Given the description of an element on the screen output the (x, y) to click on. 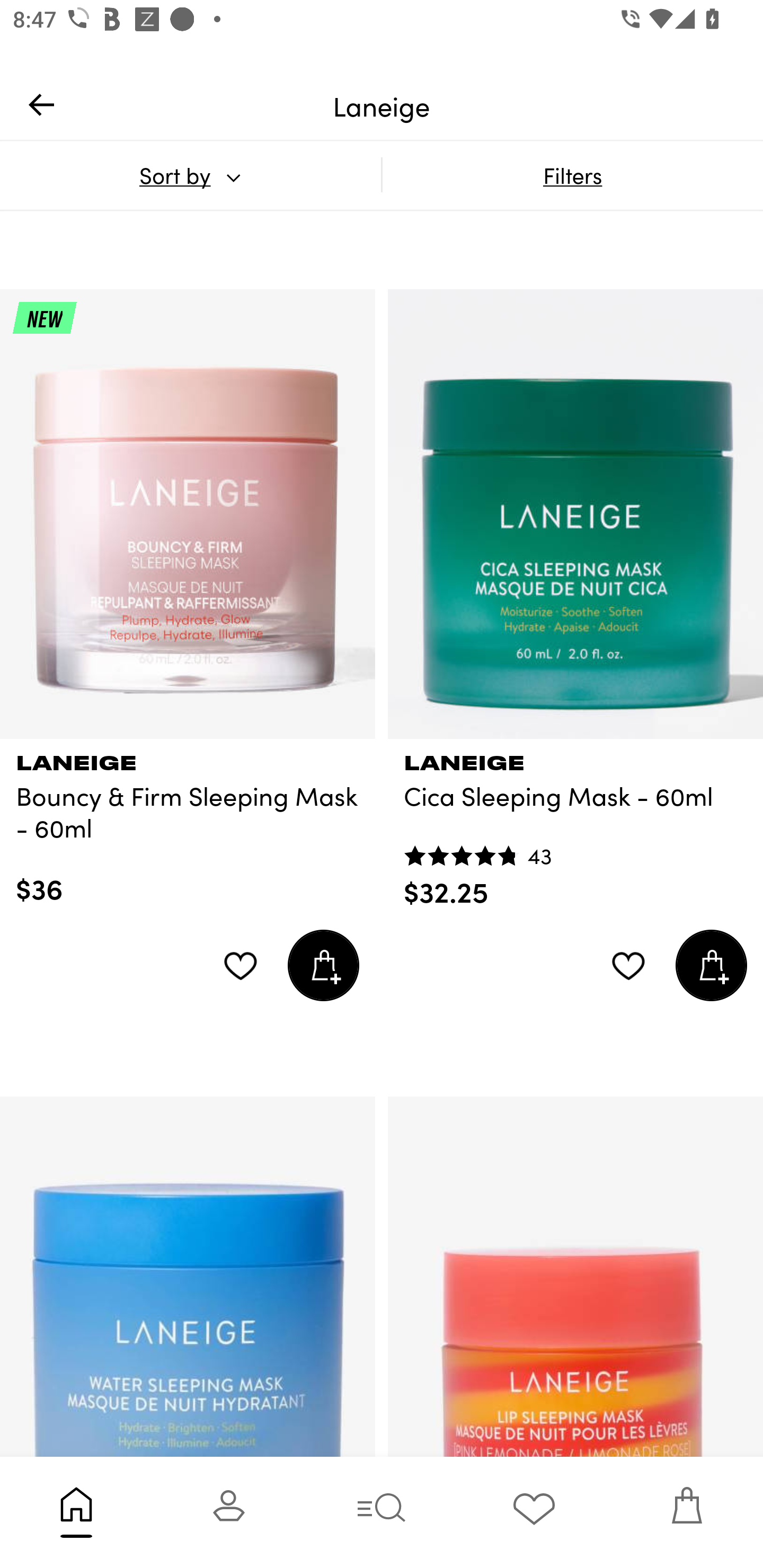
Sort by (190, 174)
Filters (572, 174)
LANEIGE Bouncy & Firm Sleeping Mask - 60ml $36 (187, 822)
LANEIGE Cica Sleeping Mask - 60ml 43 $32.25 (575, 824)
